Given the description of an element on the screen output the (x, y) to click on. 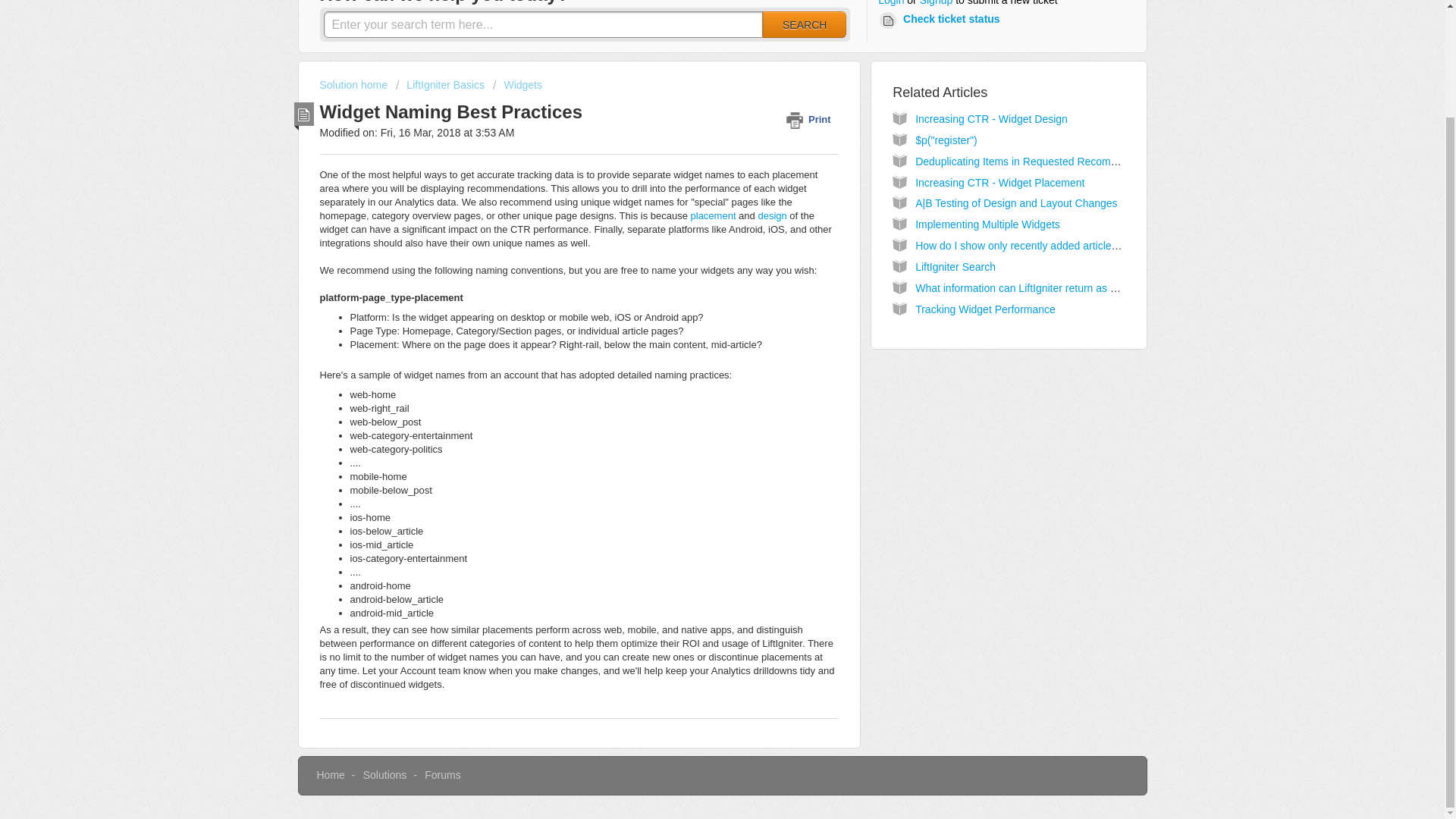
LiftIgniter Basics (440, 84)
Check ticket status (941, 20)
Deduplicating Items in Requested Recommendations (1040, 161)
Print this Article (812, 119)
Tracking Widget Performance (985, 309)
Solution home (355, 84)
design (771, 215)
SEARCH (803, 24)
Increasing CTR - Widget Placement (999, 182)
Login (890, 4)
Signup (936, 4)
LiftIgniter Search (955, 266)
Increasing CTR - Widget Design (991, 119)
Implementing Multiple Widgets (987, 224)
